Given the description of an element on the screen output the (x, y) to click on. 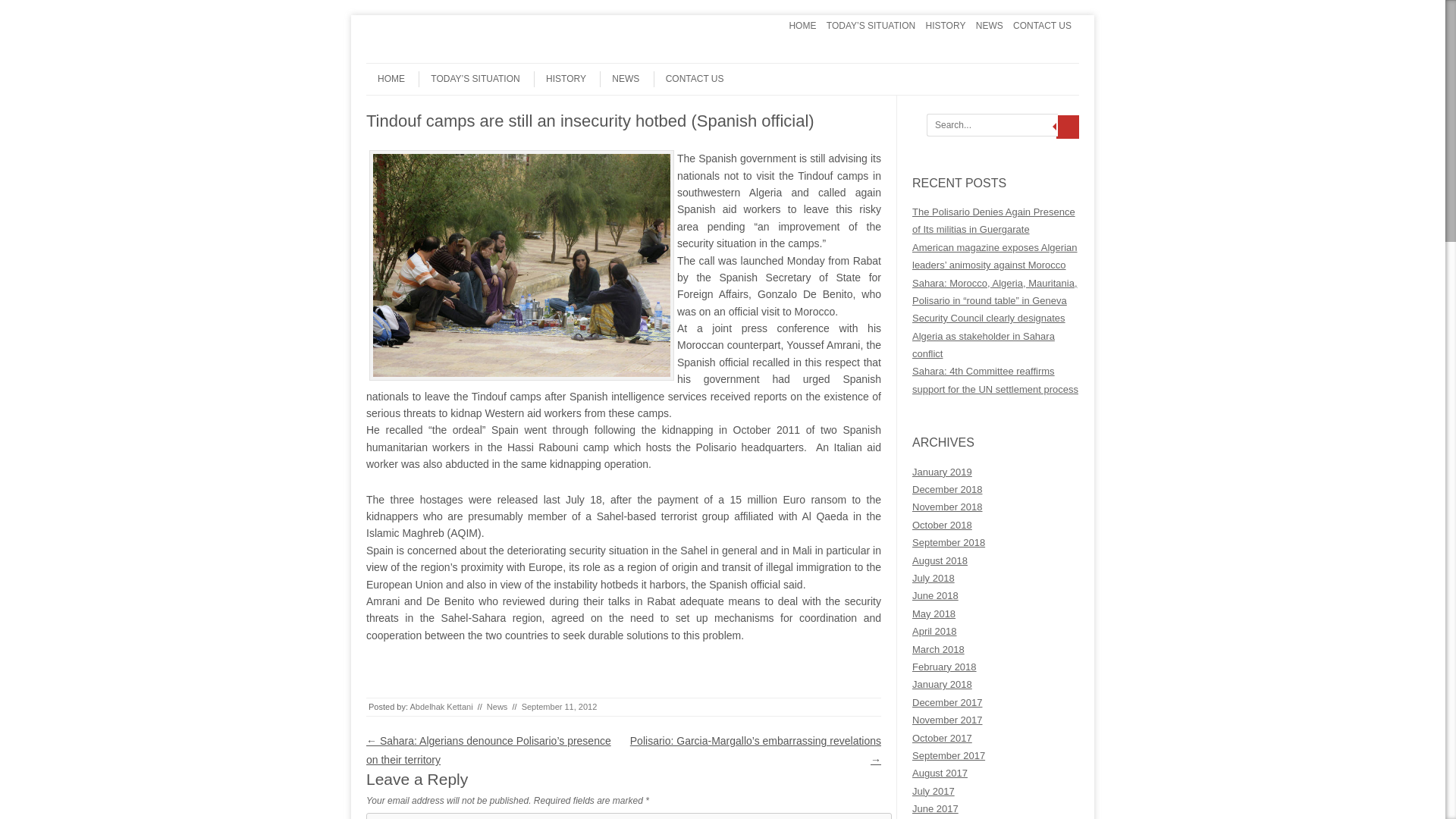
HOME (802, 25)
November 2018 (947, 506)
August 2018 (940, 560)
December 2018 (947, 489)
Search (1067, 126)
Skip to content (396, 68)
News (497, 706)
Skip to content (396, 68)
HISTORY (944, 25)
